Given the description of an element on the screen output the (x, y) to click on. 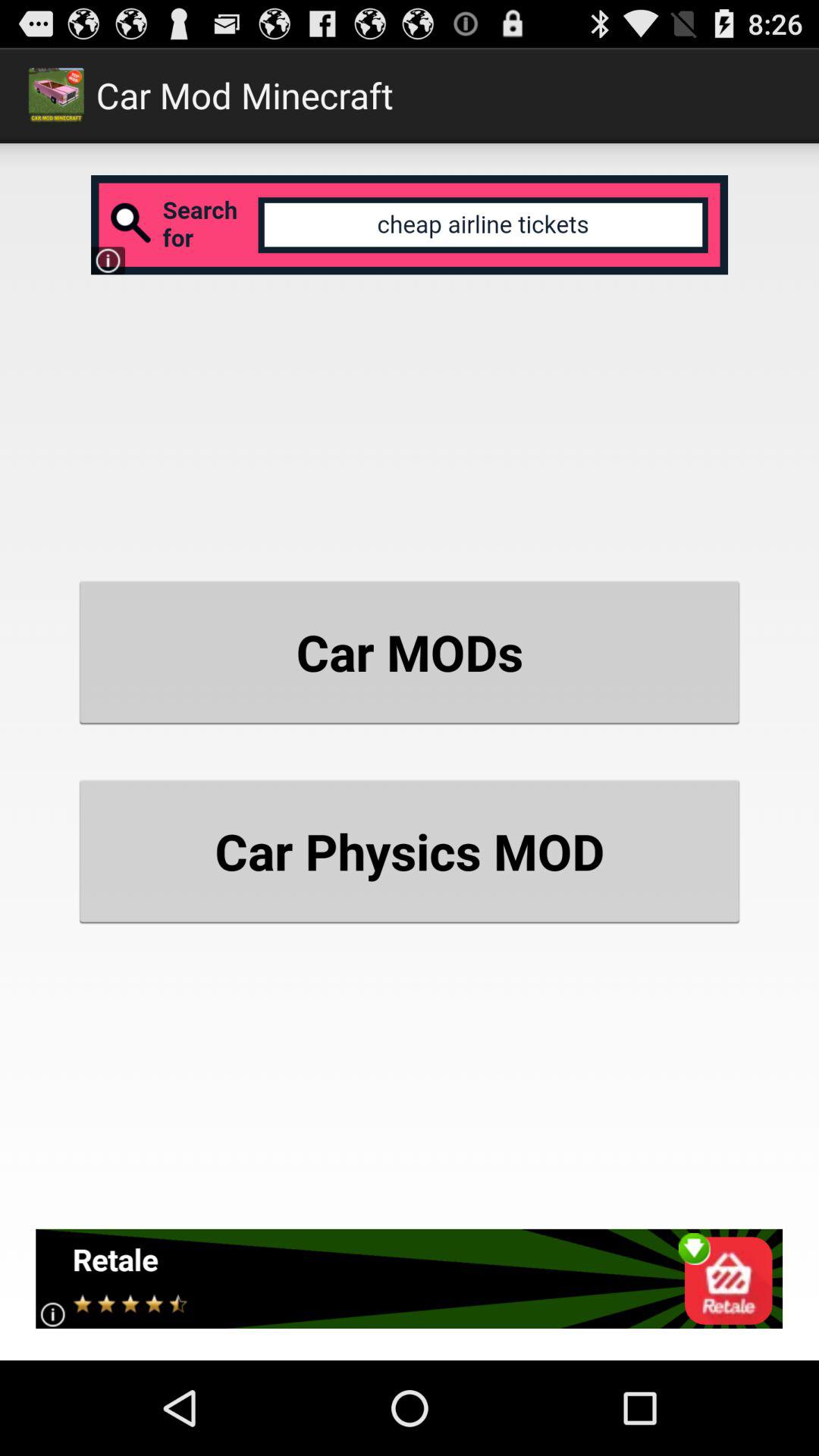
search engine (409, 224)
